Given the description of an element on the screen output the (x, y) to click on. 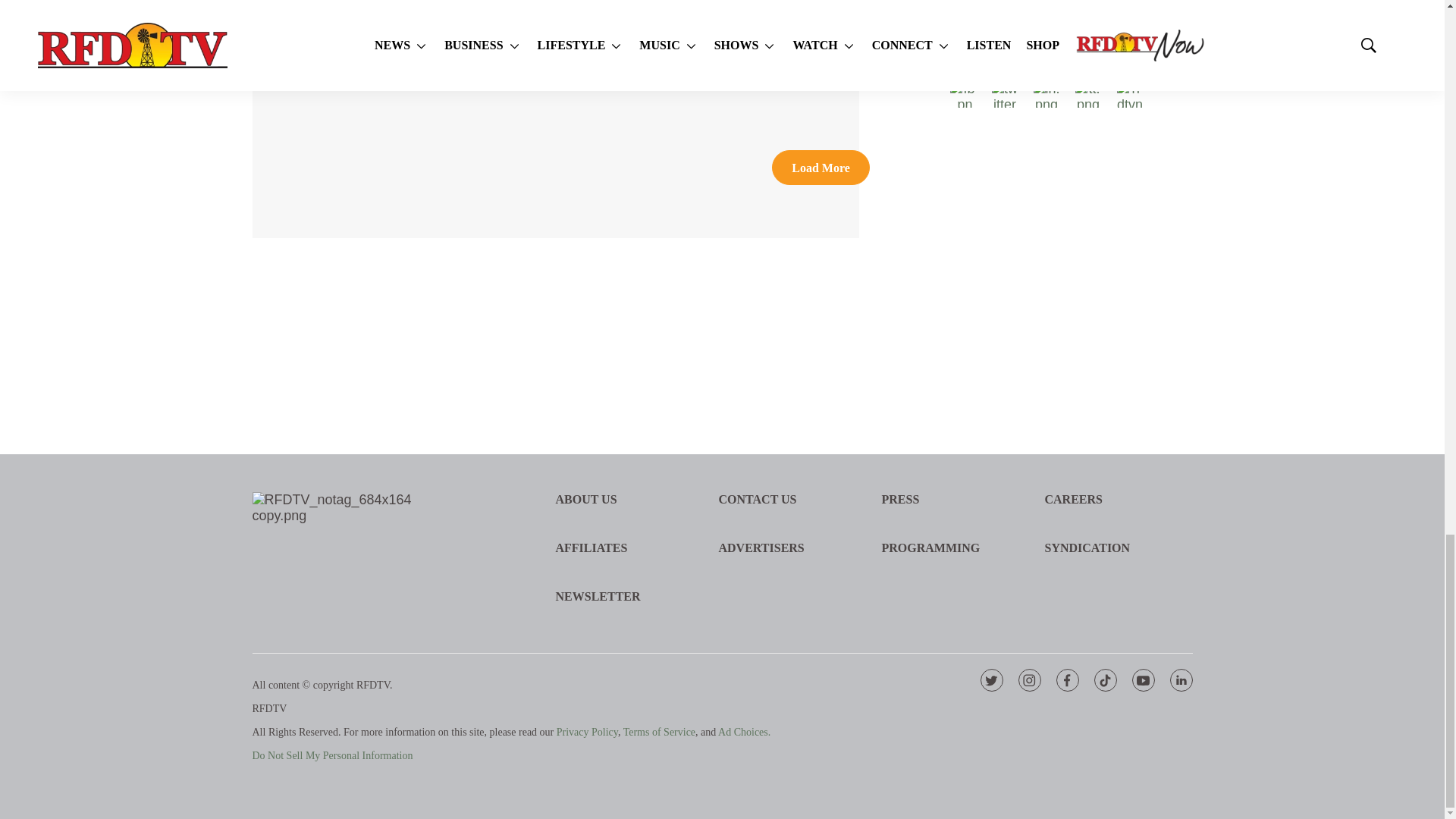
Signup Widget Embed (1070, 227)
